Given the description of an element on the screen output the (x, y) to click on. 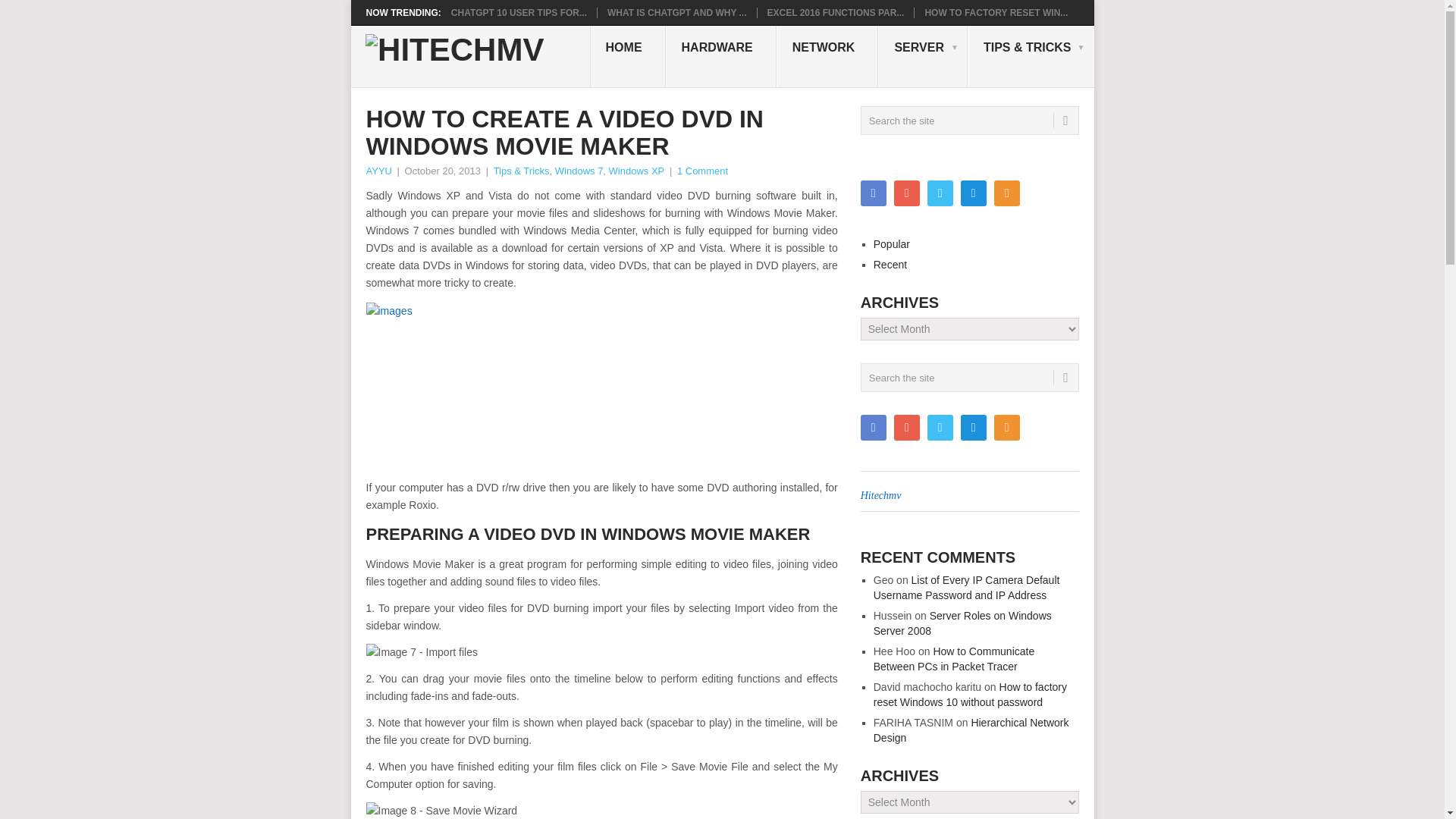
NETWORK (827, 56)
1 Comment (702, 170)
ChatGPT 10 User Tips for life hack (518, 12)
Search the site (969, 120)
HOME (627, 56)
WHAT IS CHATGPT AND WHY ... (676, 12)
EXCEL 2016 Functions Part-1 (835, 12)
SERVER (922, 56)
Facebook (873, 193)
EXCEL 2016 FUNCTIONS PAR... (835, 12)
Search the site (969, 377)
Twitter (940, 193)
Windows 7 (579, 170)
How to factory reset Windows 10 without password (995, 12)
AYYU (378, 170)
